Given the description of an element on the screen output the (x, y) to click on. 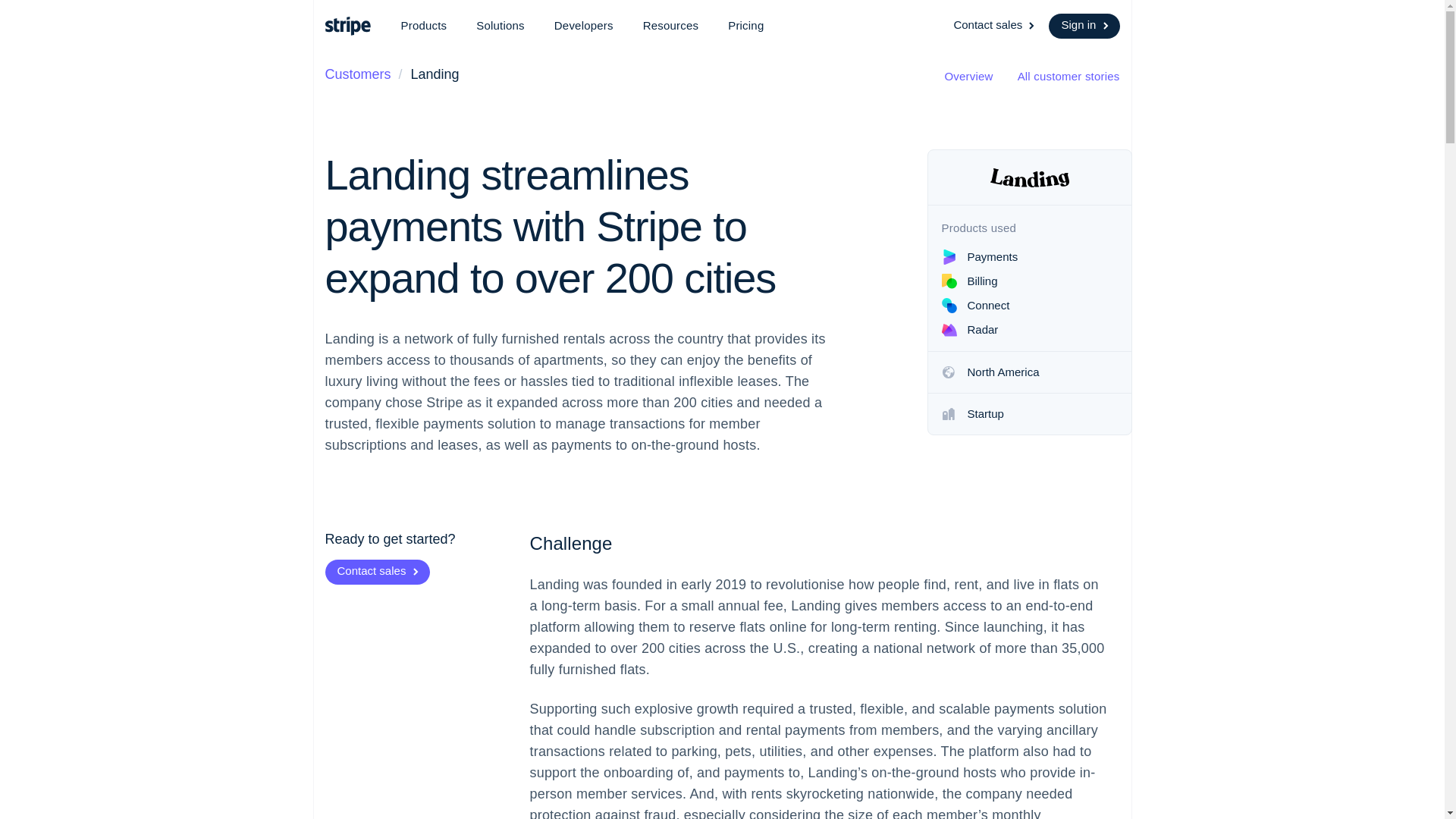
Pricing (745, 25)
Solutions (500, 25)
Resources (670, 25)
Sign in  (1083, 25)
Contact sales  (994, 25)
Developers (583, 25)
Products (423, 25)
